Given the description of an element on the screen output the (x, y) to click on. 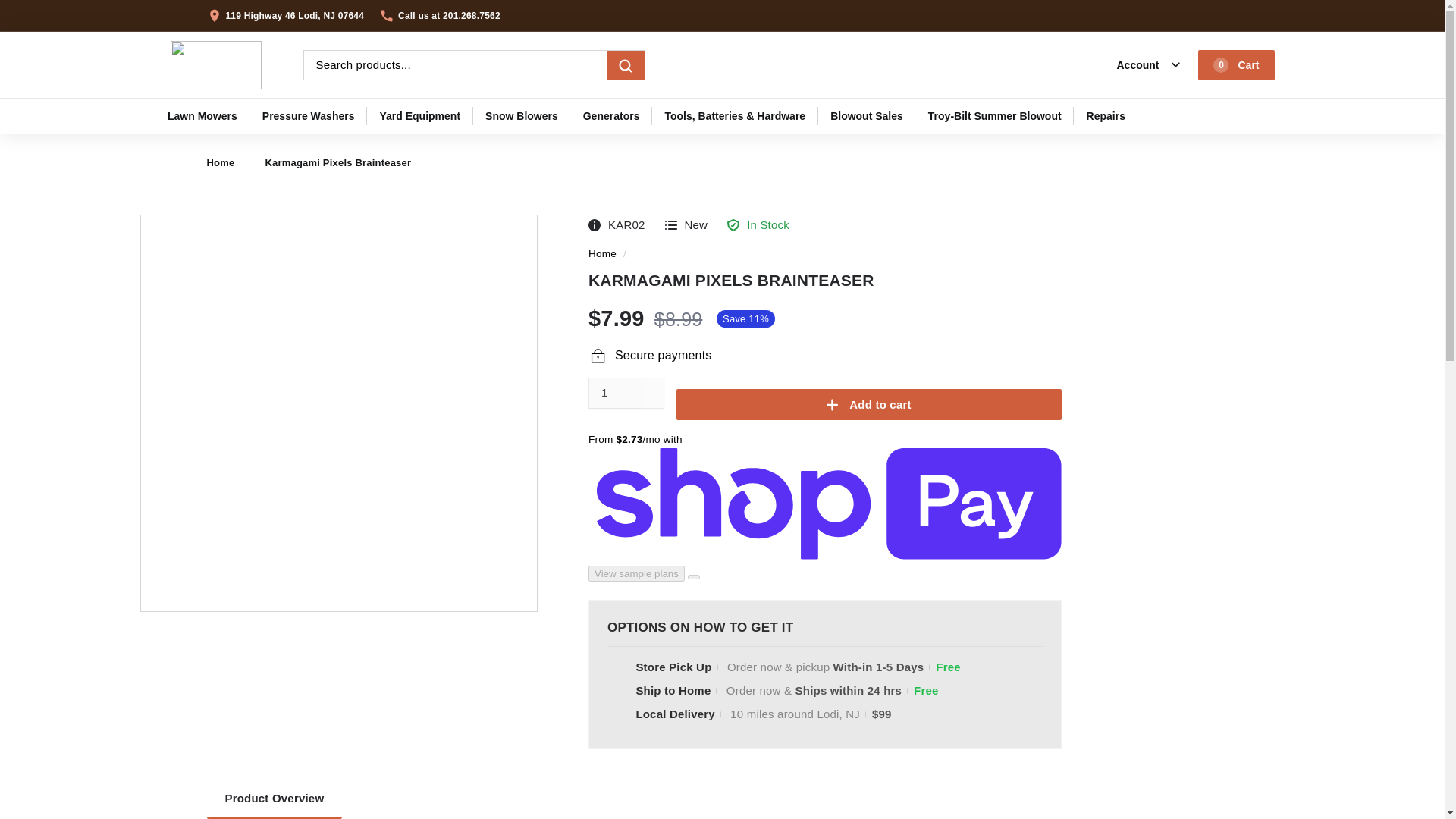
Search (626, 64)
Pressure Washers (307, 115)
Lawn Mowers (201, 115)
Back to the frontpage (601, 253)
Yard Equipment (1236, 64)
